Given the description of an element on the screen output the (x, y) to click on. 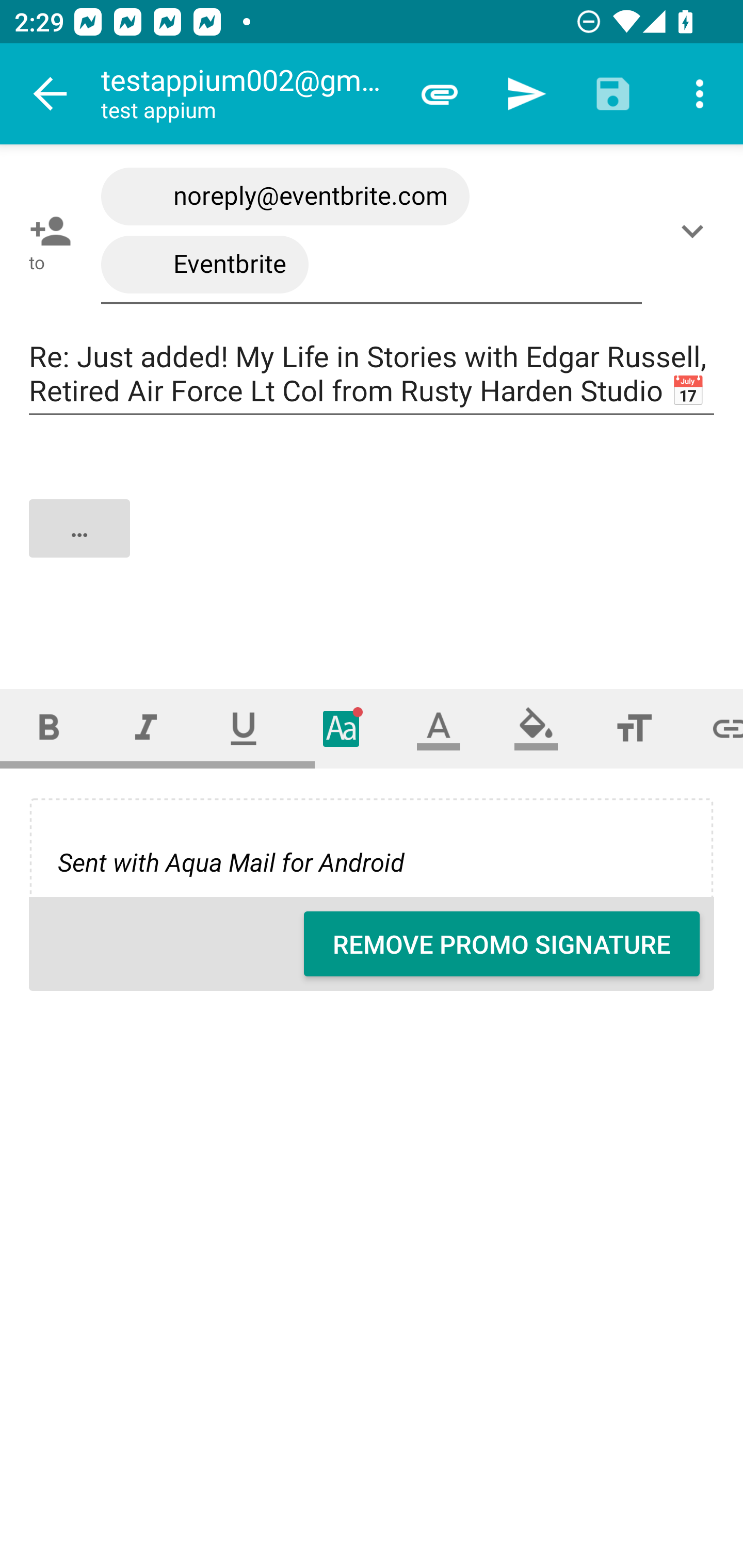
Navigate up (50, 93)
testappium002@gmail.com test appium (248, 93)
Attach (439, 93)
Send (525, 93)
Save (612, 93)
More options (699, 93)
Pick contact: To (46, 231)
Show/Add CC/BCC (696, 231)

…
 (372, 544)
Bold (48, 728)
Italic (145, 728)
Underline (243, 728)
Typeface (font) (341, 728)
Text color (438, 728)
Fill color (536, 728)
Font size (633, 728)
REMOVE PROMO SIGNATURE (501, 943)
